Given the description of an element on the screen output the (x, y) to click on. 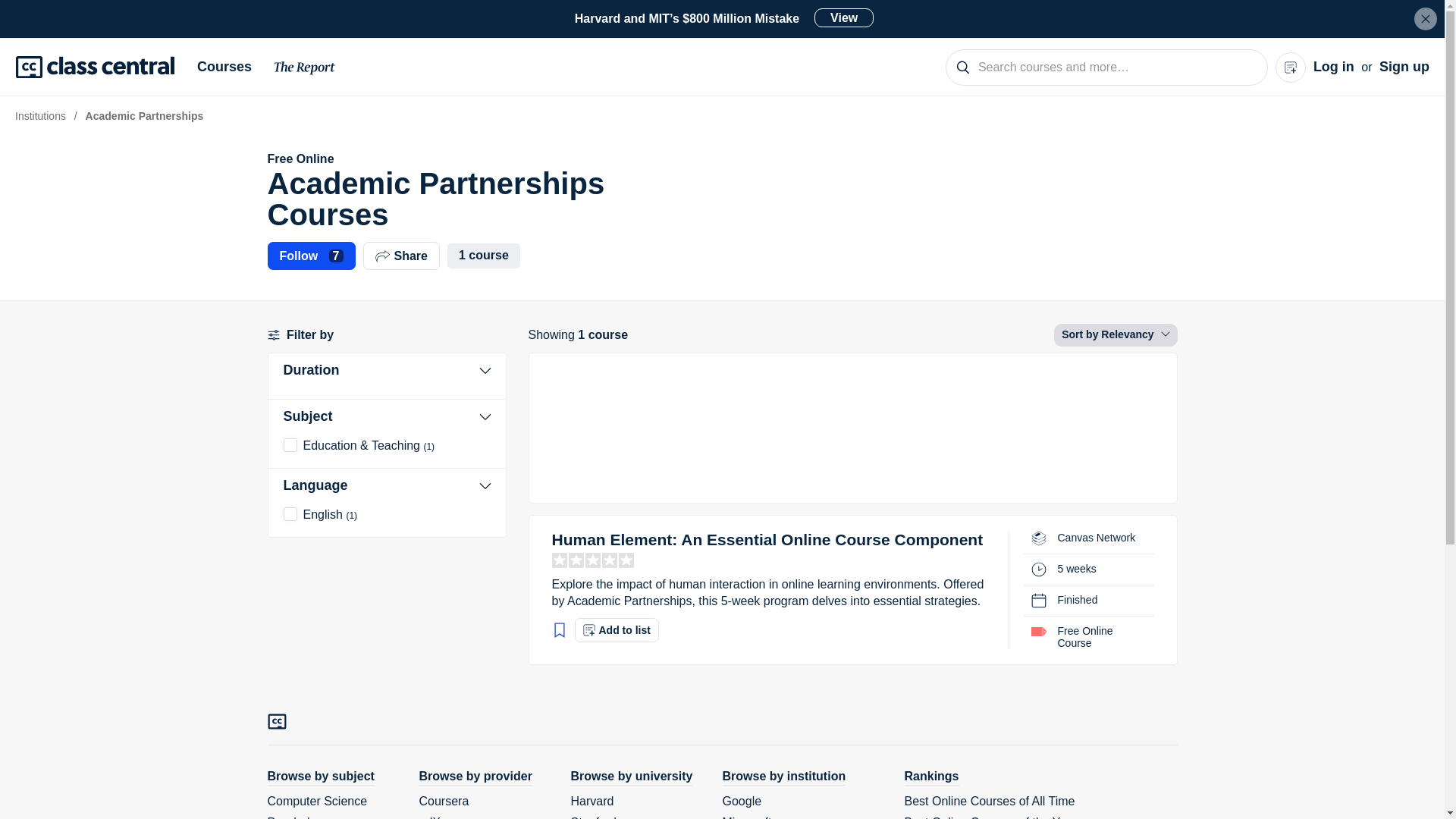
100 Free Courses Trending in September (852, 425)
List of Canvas Network MOOCs (1096, 538)
The Report (304, 69)
Courses (229, 66)
Close (1425, 18)
